Given the description of an element on the screen output the (x, y) to click on. 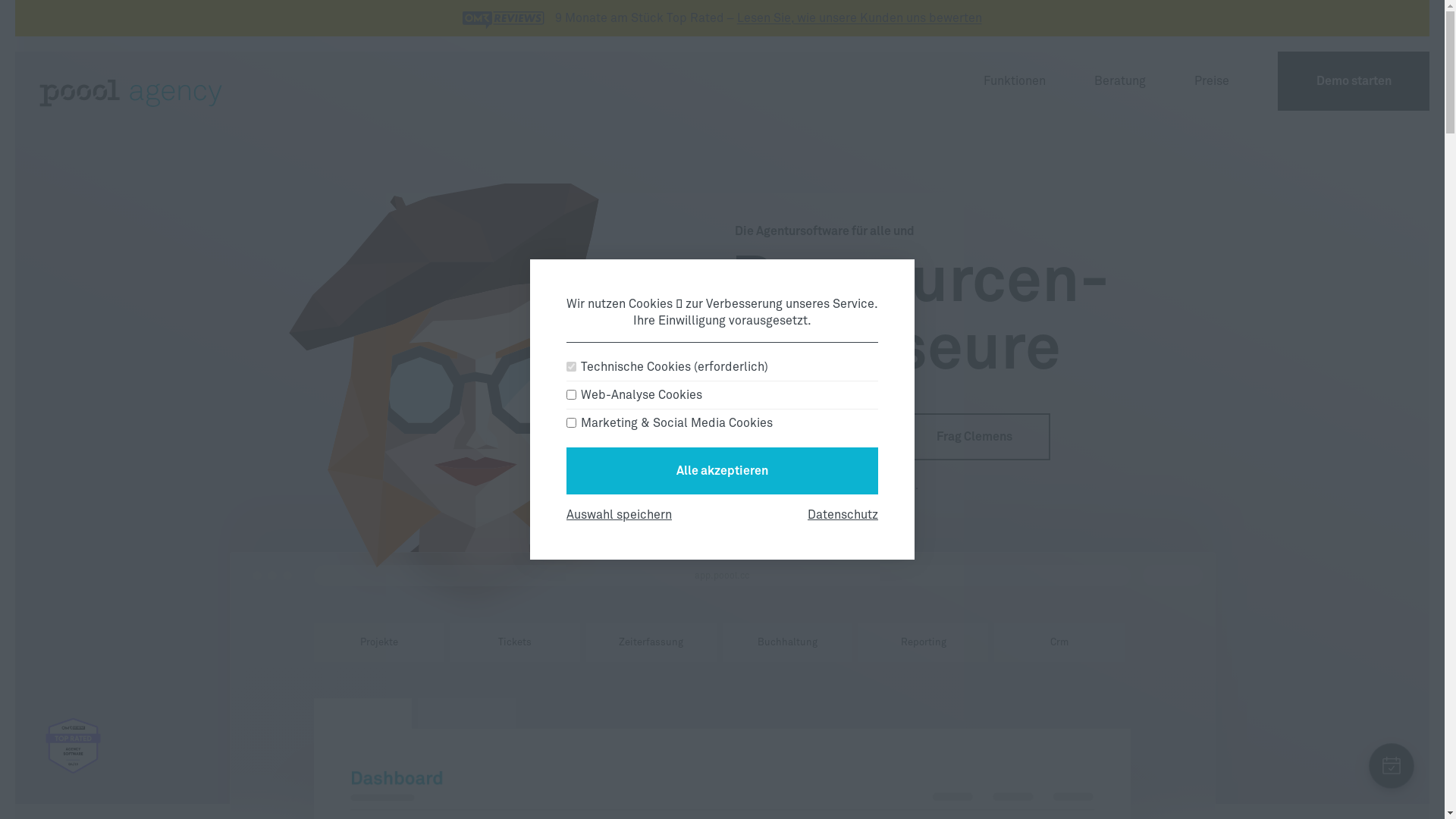
Funktionen Element type: text (1014, 80)
Preise Element type: text (1211, 80)
Datenschutz Element type: text (842, 514)
Beratung Element type: text (1119, 80)
Demo starten Element type: text (809, 436)
Demo starten Element type: text (1353, 80)
